Given the description of an element on the screen output the (x, y) to click on. 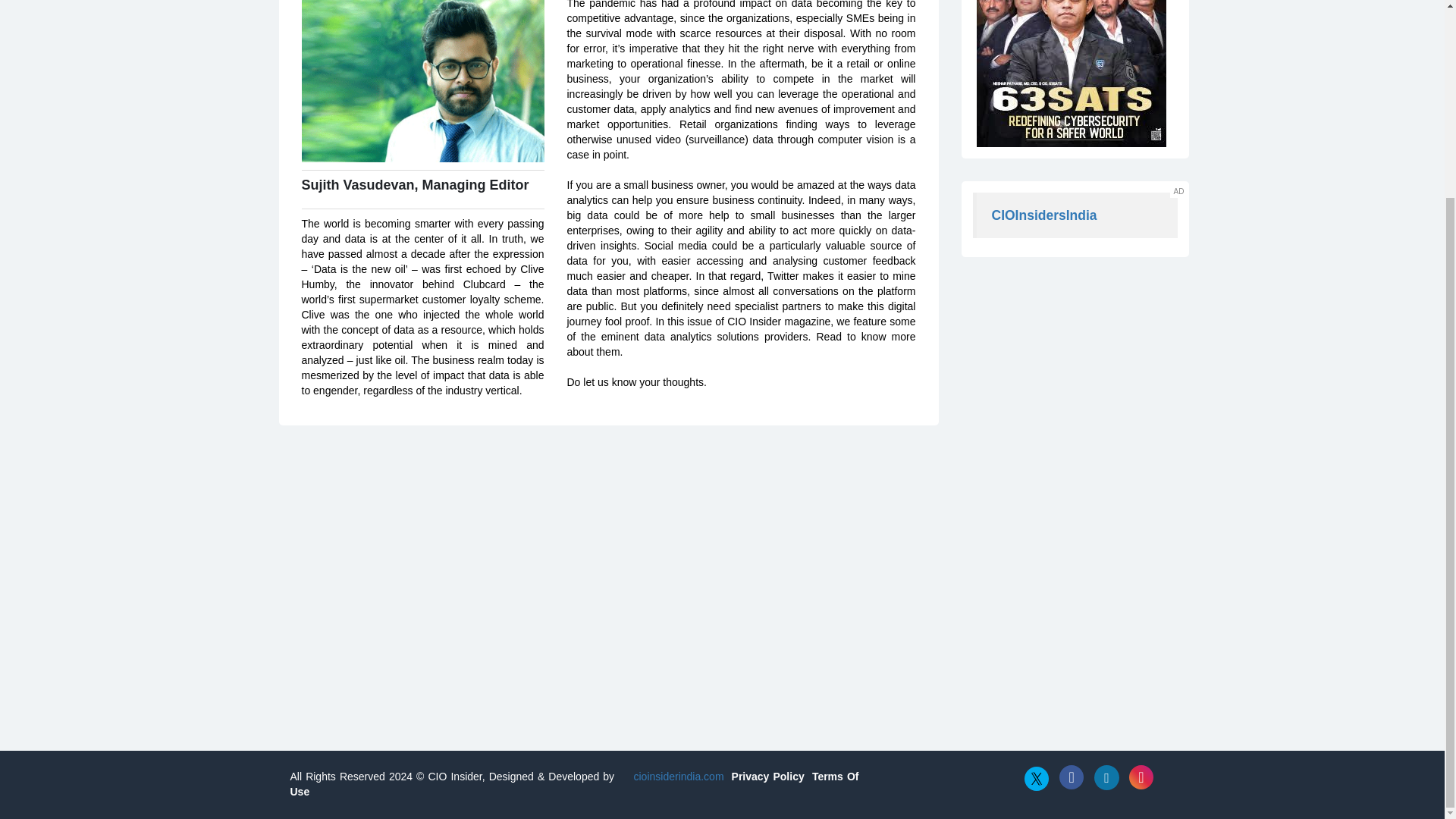
cioinsiderindia.com (675, 776)
Privacy Policy (768, 776)
63SATS : Redefining Cyber Security For A Safer World (415, 189)
CIOInsidersIndia (1071, 73)
Sujith Vasudevan, Managing Editor (1044, 215)
Terms Of Use (422, 81)
